Given the description of an element on the screen output the (x, y) to click on. 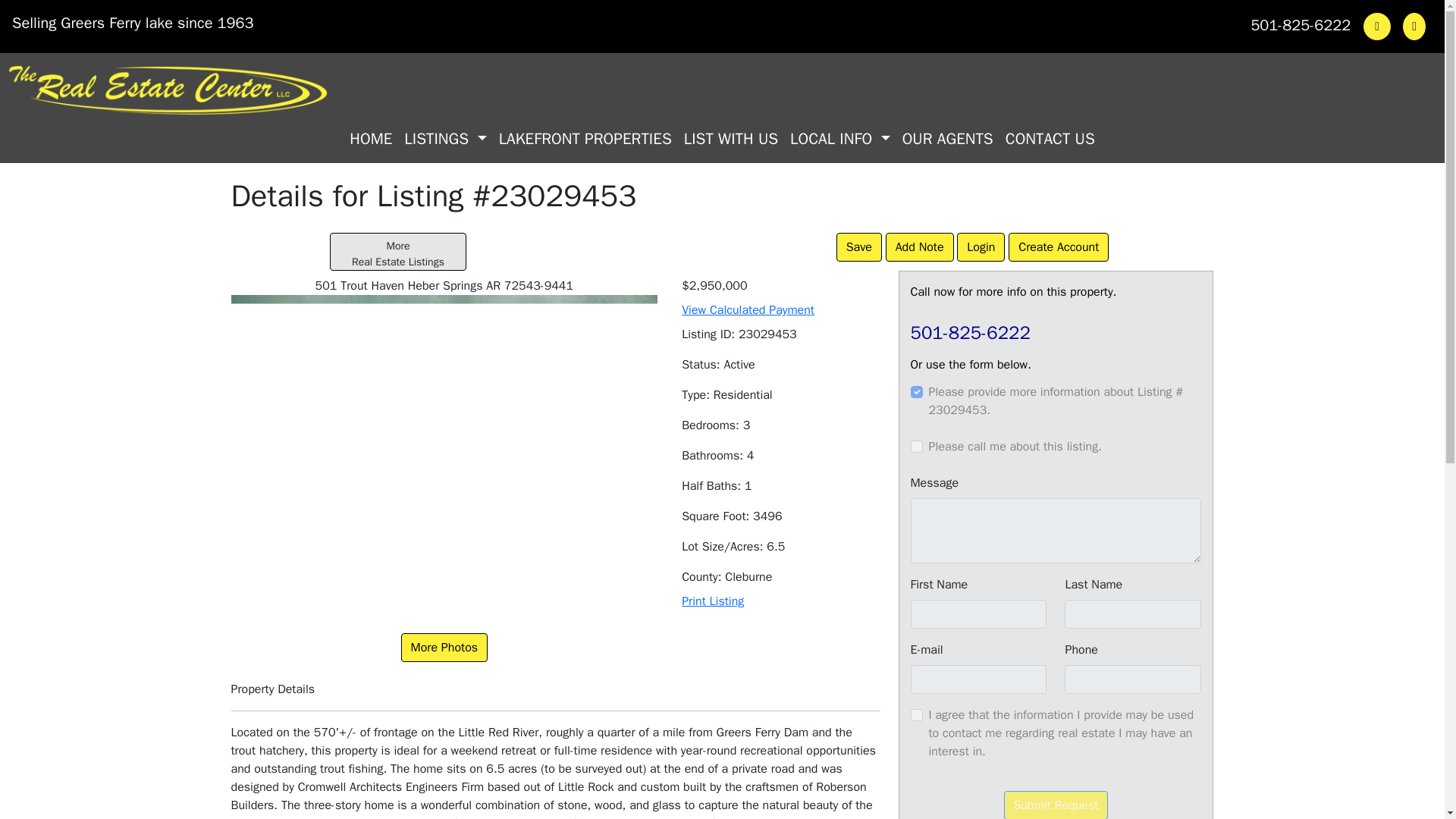
LOCAL INFO (397, 251)
on (840, 139)
CONTACT US (915, 391)
on (1049, 139)
More Photos (915, 715)
on (444, 647)
Submit Request (915, 446)
LAKEFRONT PROPERTIES (1056, 805)
LIST WITH US (585, 139)
